Given the description of an element on the screen output the (x, y) to click on. 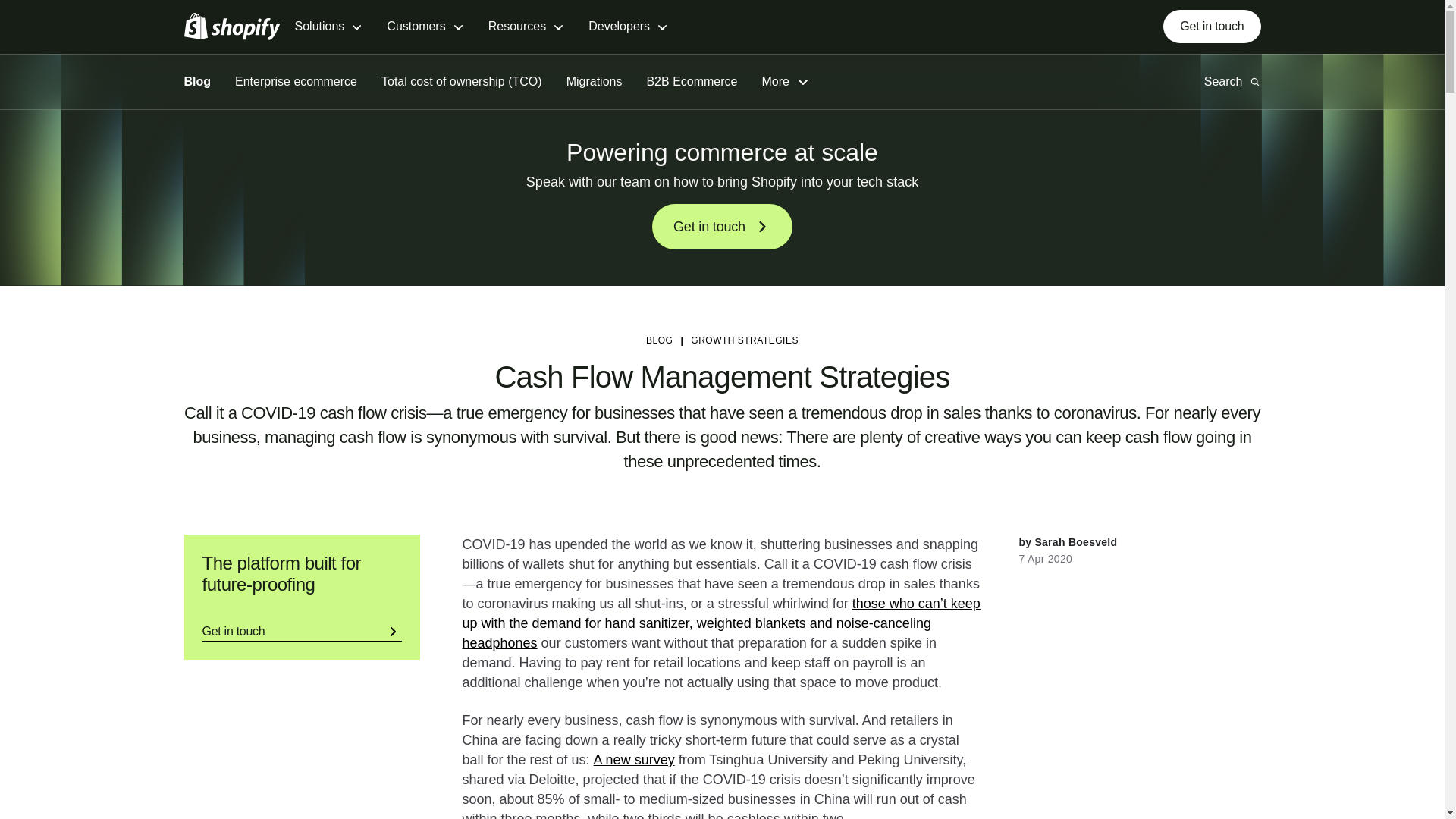
Resources (525, 27)
Solutions (328, 27)
Customers (425, 27)
Developers (628, 27)
